Given the description of an element on the screen output the (x, y) to click on. 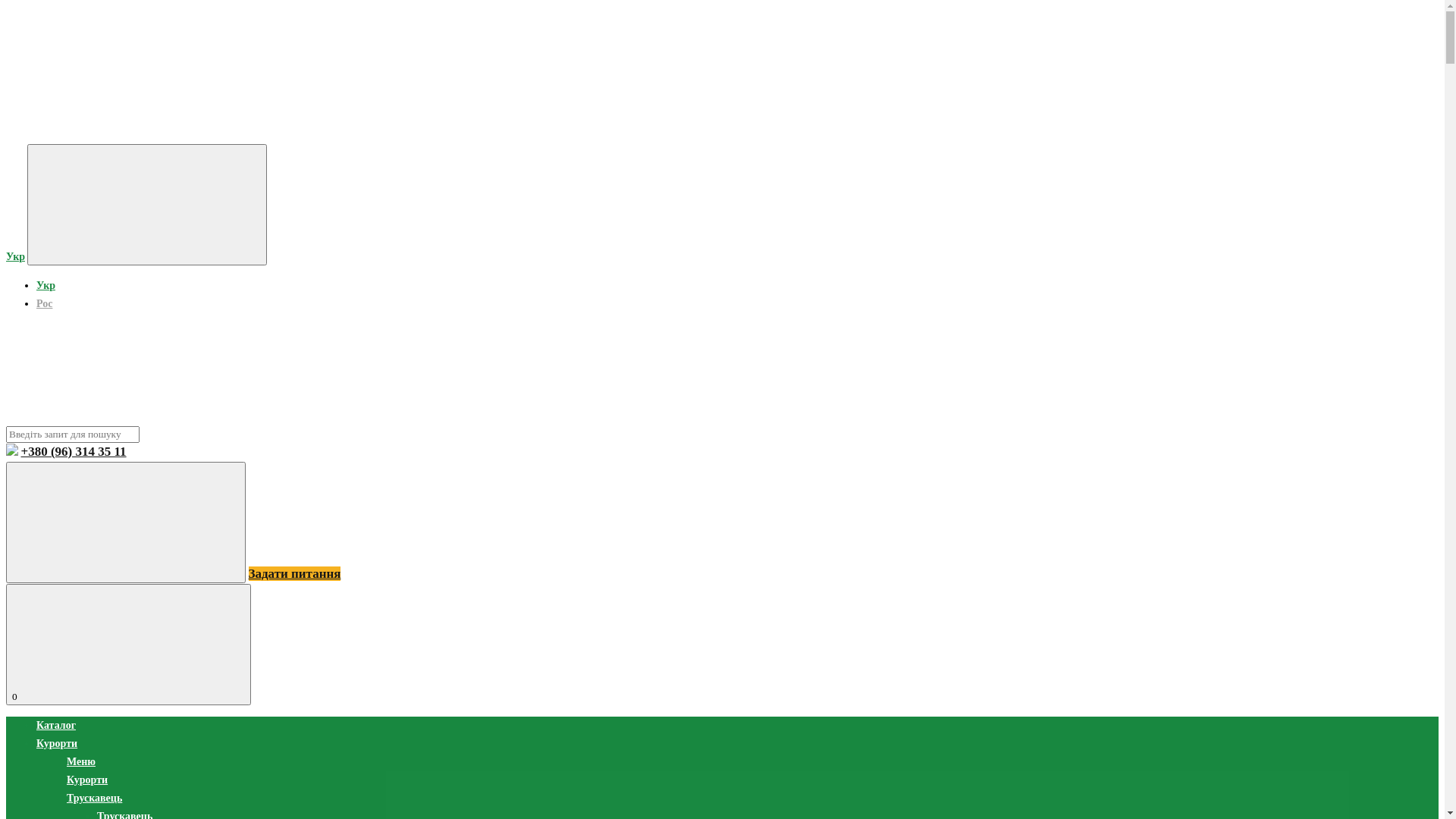
0 Element type: text (128, 644)
+380 (96) 314 35 11 Element type: text (73, 451)
